Given the description of an element on the screen output the (x, y) to click on. 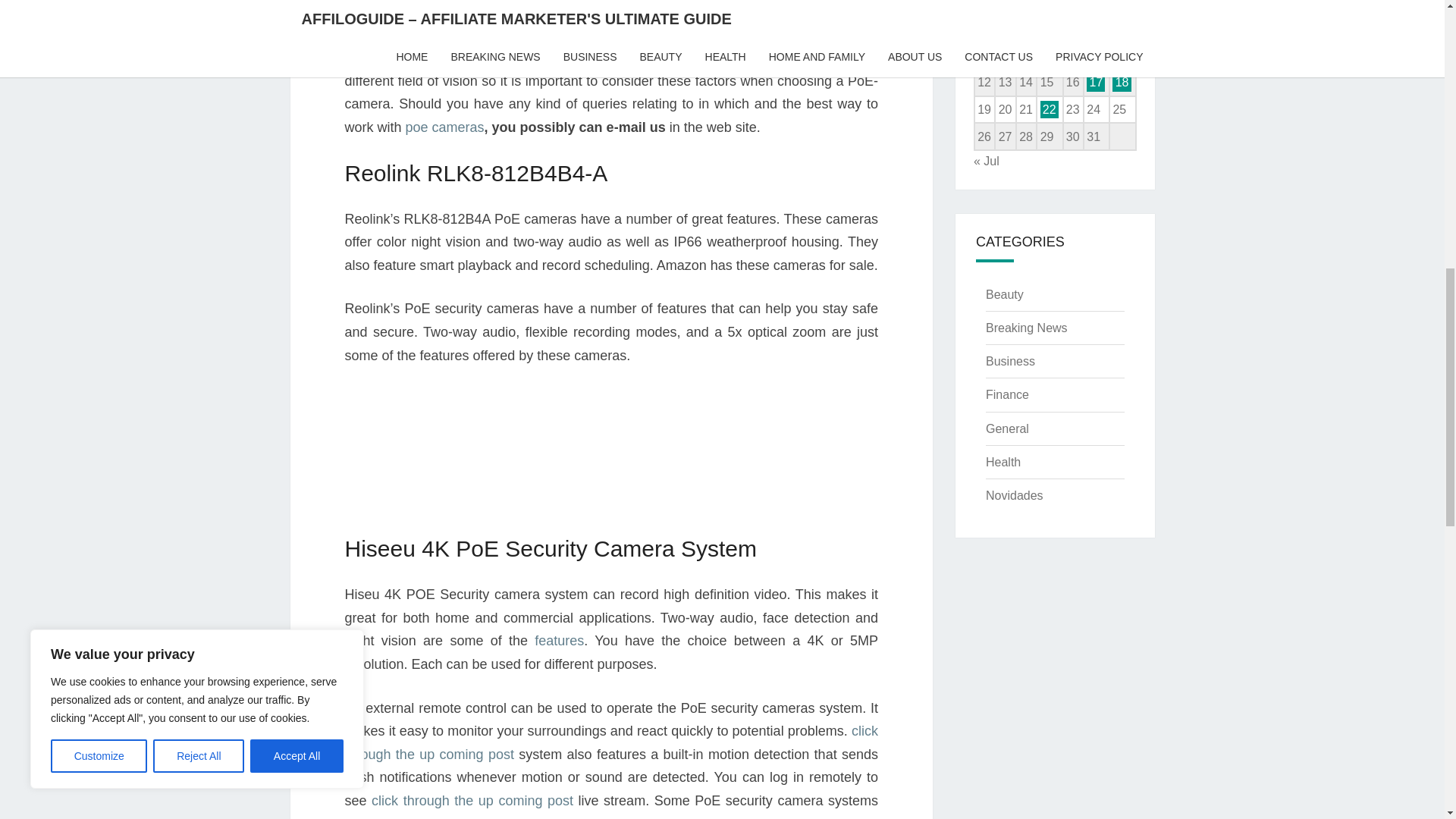
poe cameras (445, 127)
Friday (1072, 7)
Thursday (1049, 7)
click through the up coming post (610, 742)
Wednesday (1026, 7)
Tuesday (1004, 7)
features (558, 640)
Sunday (1122, 7)
Saturday (1096, 7)
click through the up coming post (472, 800)
